Given the description of an element on the screen output the (x, y) to click on. 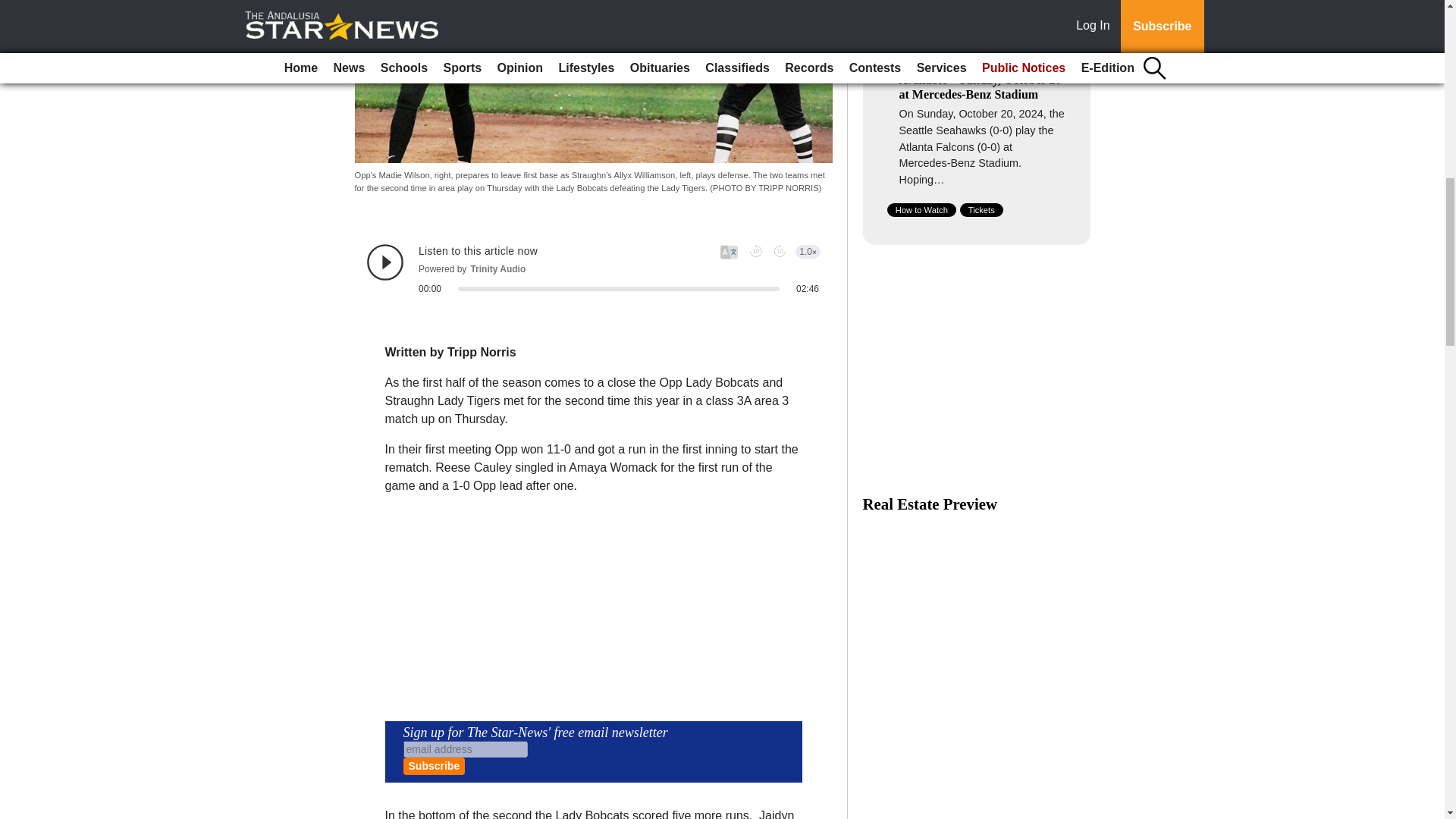
How to Watch (921, 210)
Subscribe (434, 765)
Trinity Audio Player (592, 269)
Subscribe (434, 765)
Tickets (981, 210)
